Given the description of an element on the screen output the (x, y) to click on. 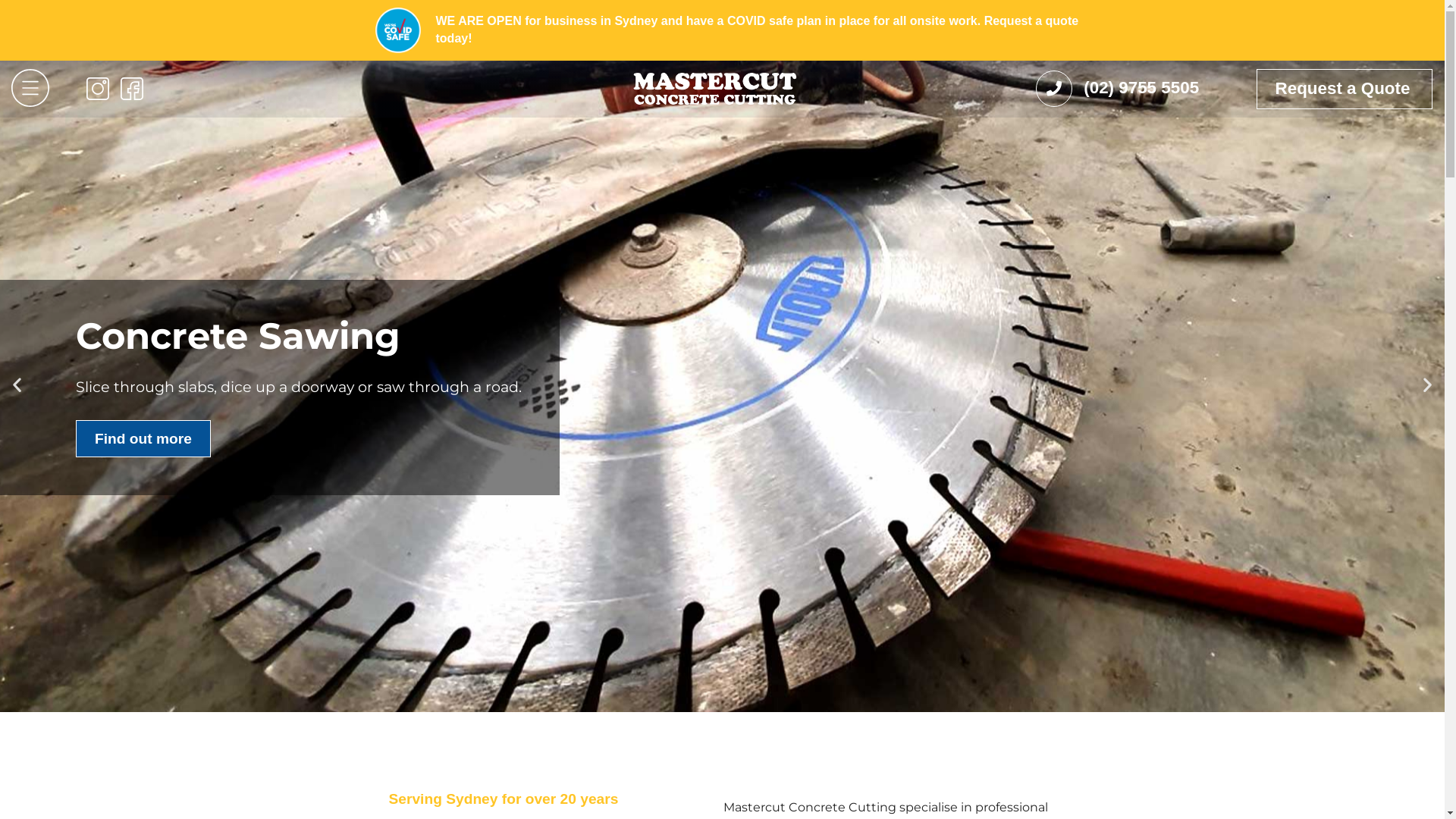
Request a Quote Element type: text (1344, 89)
